Given the description of an element on the screen output the (x, y) to click on. 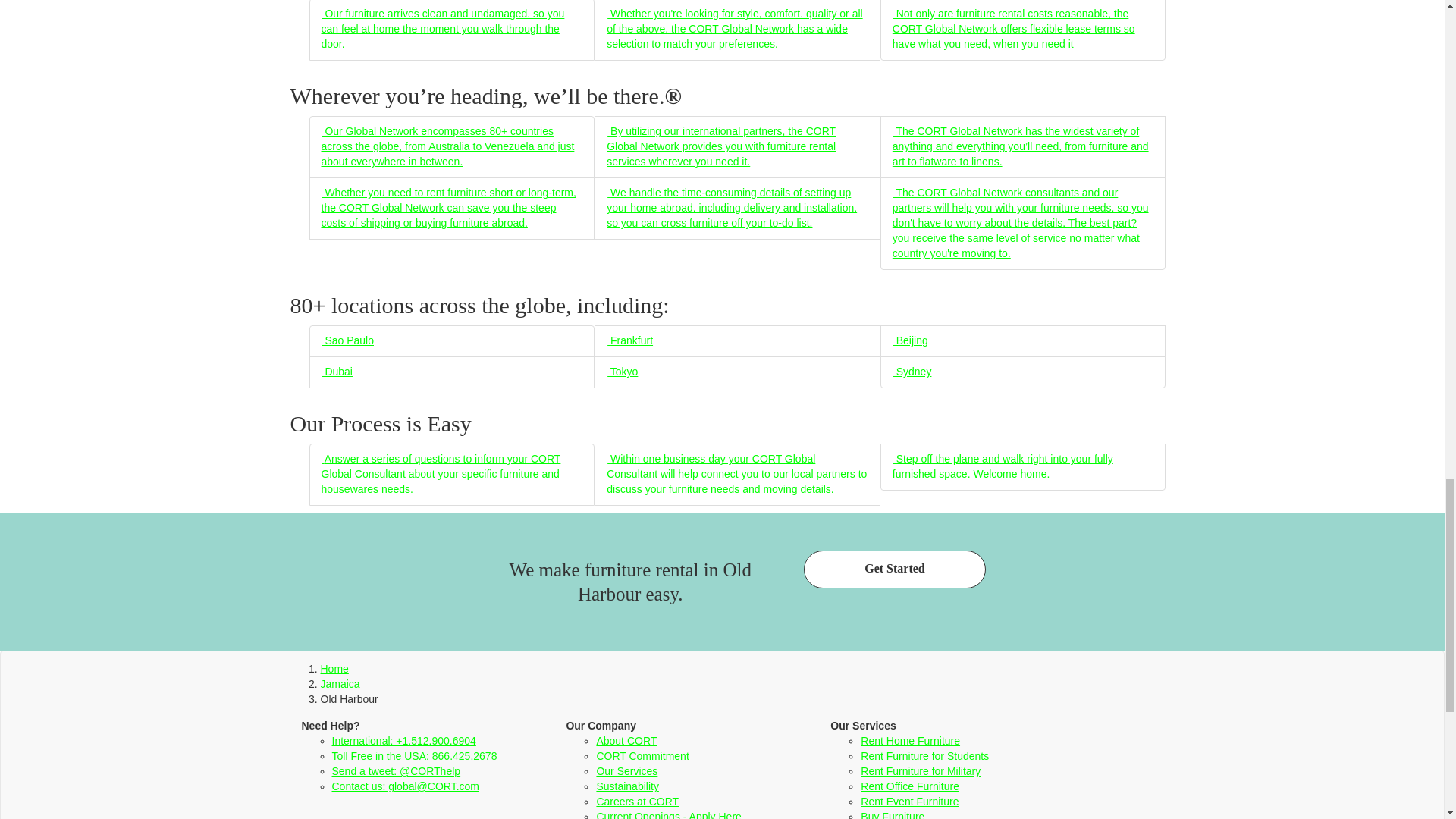
Home (333, 668)
Jamaica (339, 684)
Frankfurt (629, 340)
Get Started (894, 569)
Beijing (910, 340)
Sydney (911, 371)
Dubai (336, 371)
Sao Paulo (347, 340)
